Given the description of an element on the screen output the (x, y) to click on. 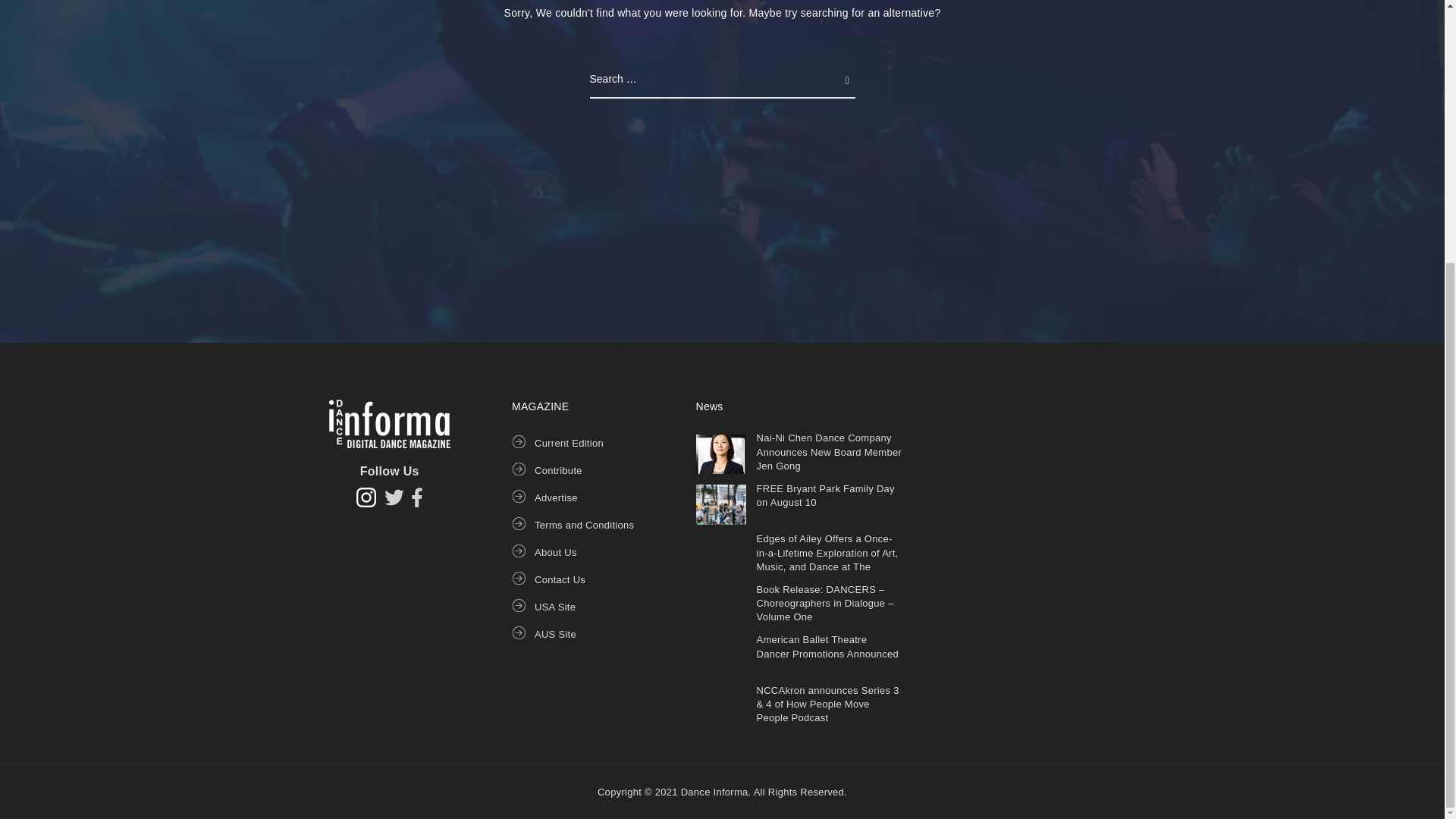
FREE Bryant Park Family Day on August 10 (826, 495)
Current Edition (569, 442)
Terms and Conditions (583, 524)
USA Site (554, 606)
Advertise (556, 497)
Contact Us (559, 579)
AUS Site (555, 633)
Contribute (558, 470)
American Ballet Theatre Dancer Promotions Announced (828, 646)
